Given the description of an element on the screen output the (x, y) to click on. 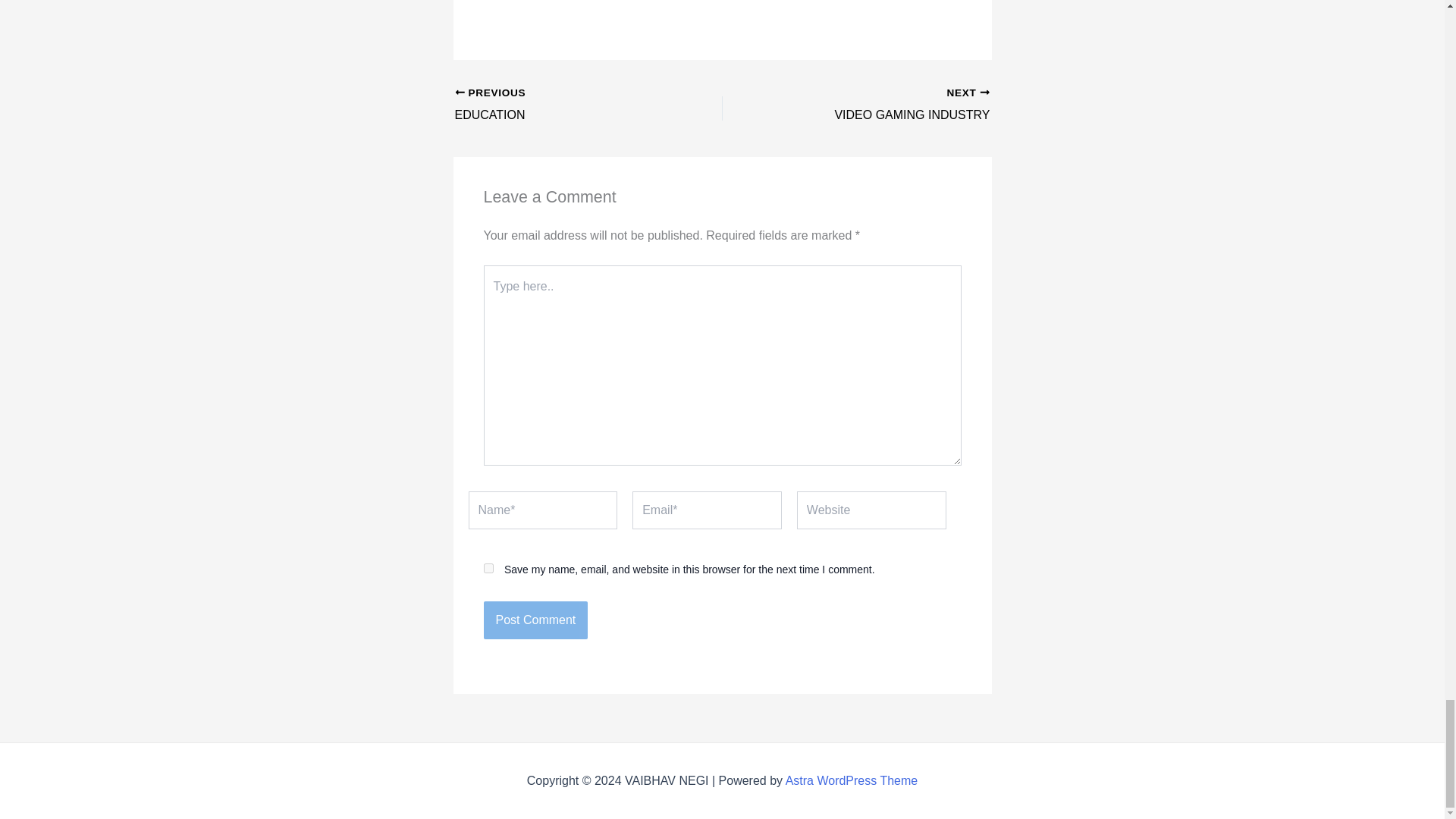
yes (882, 105)
Astra WordPress Theme (488, 568)
EDUCATION (852, 780)
Post Comment (561, 105)
VIDEO GAMING INDUSTRY (535, 619)
Post Comment (882, 105)
